Given the description of an element on the screen output the (x, y) to click on. 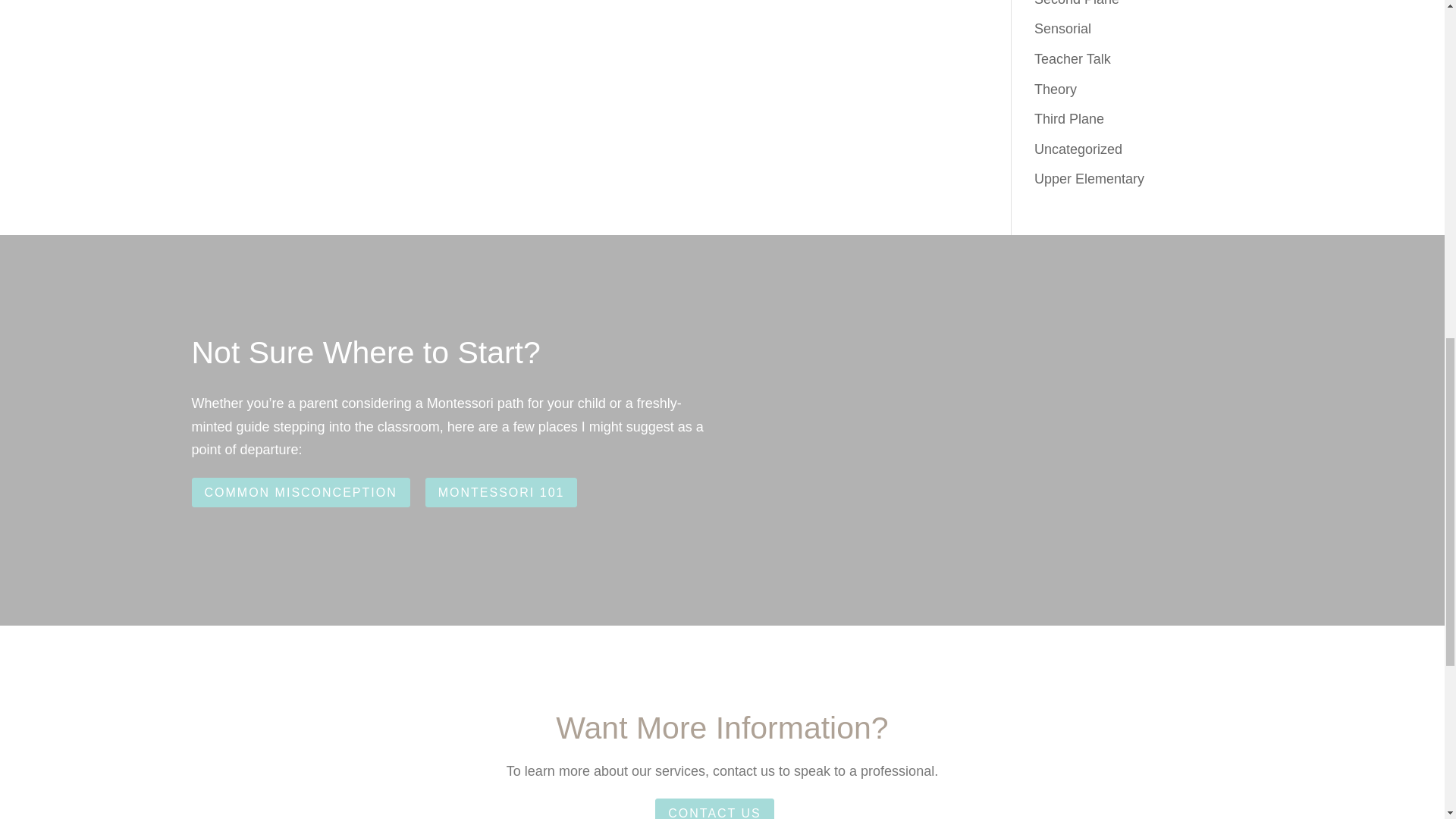
Sensorial (1061, 28)
Second Plane (1076, 3)
Teacher Talk (1071, 58)
Theory (1055, 89)
